Given the description of an element on the screen output the (x, y) to click on. 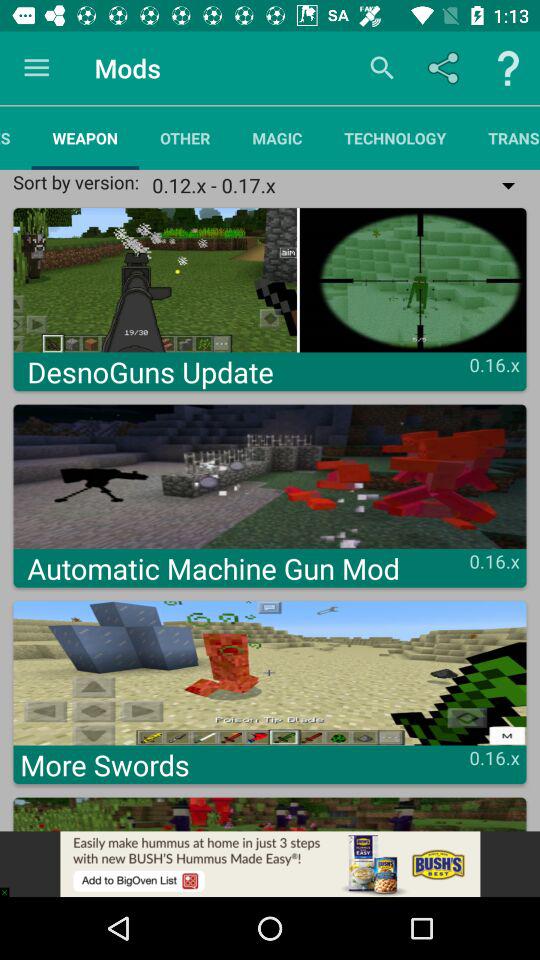
turn off the icon to the left of the magic icon (185, 137)
